Given the description of an element on the screen output the (x, y) to click on. 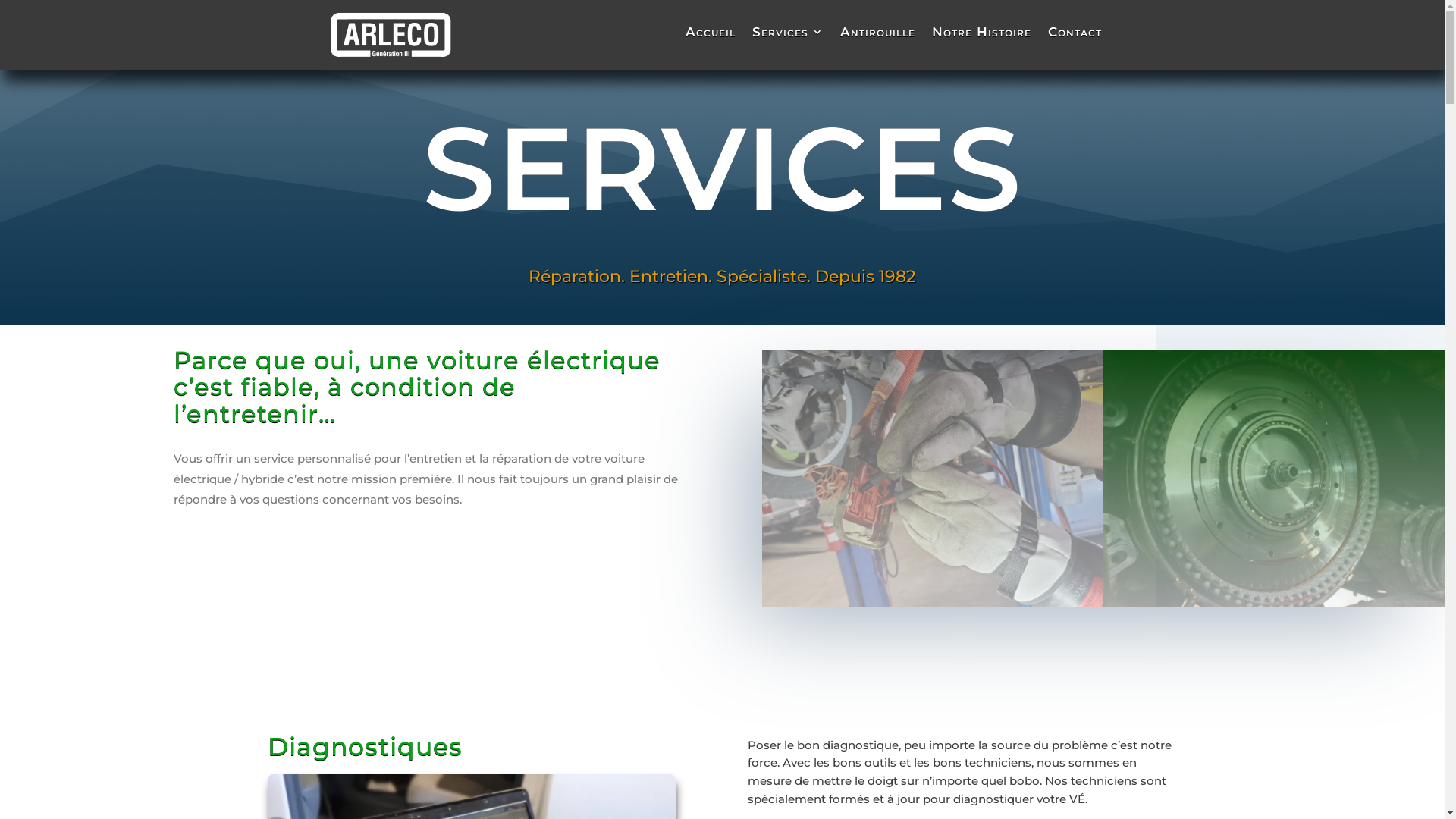
Notre Histoire Element type: text (981, 34)
Accueil Element type: text (710, 34)
Services Element type: text (787, 34)
Contact Element type: text (1074, 34)
Antirouille Element type: text (877, 34)
